Given the description of an element on the screen output the (x, y) to click on. 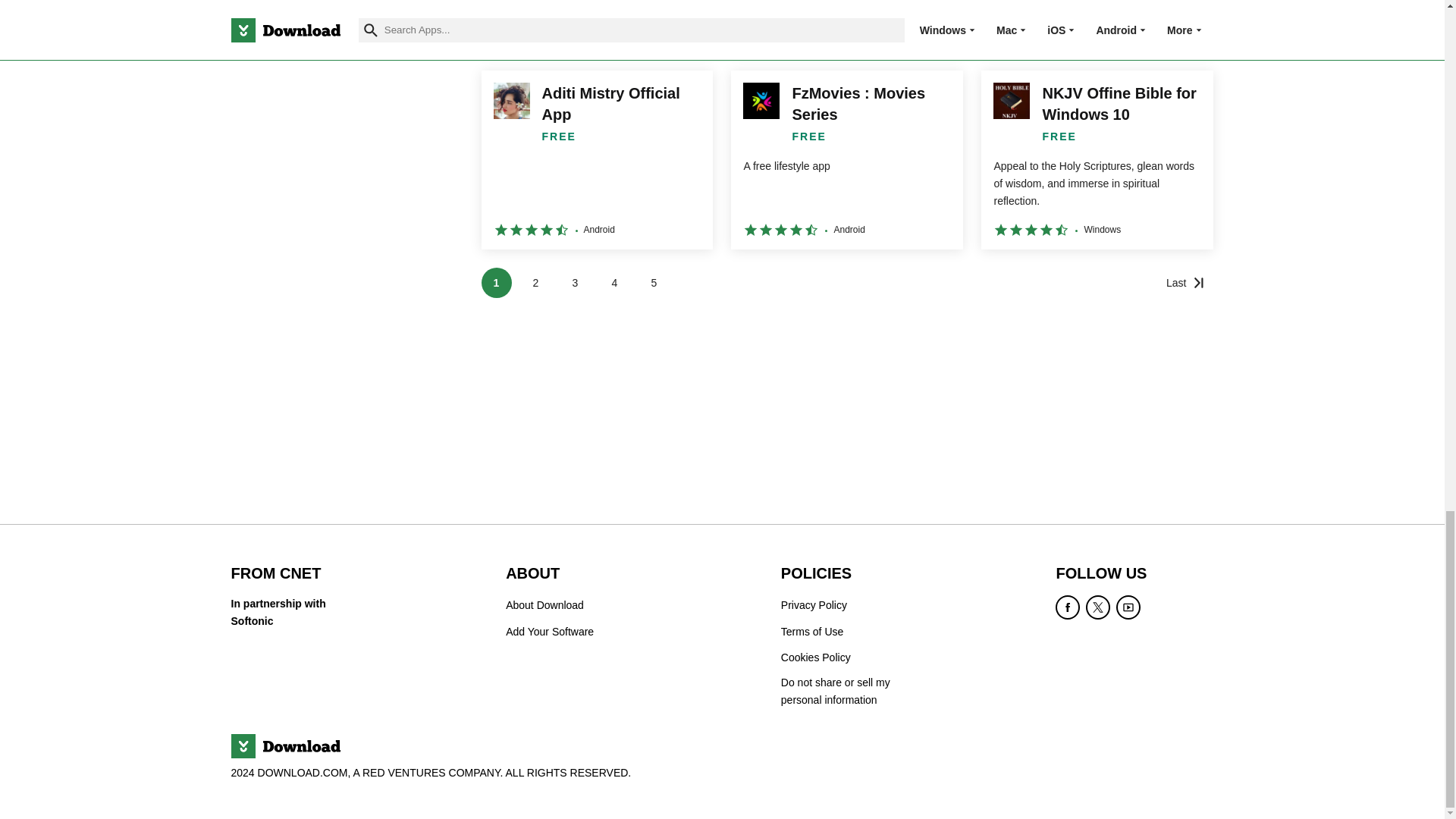
Netflix for Windows 10 (596, 26)
